Given the description of an element on the screen output the (x, y) to click on. 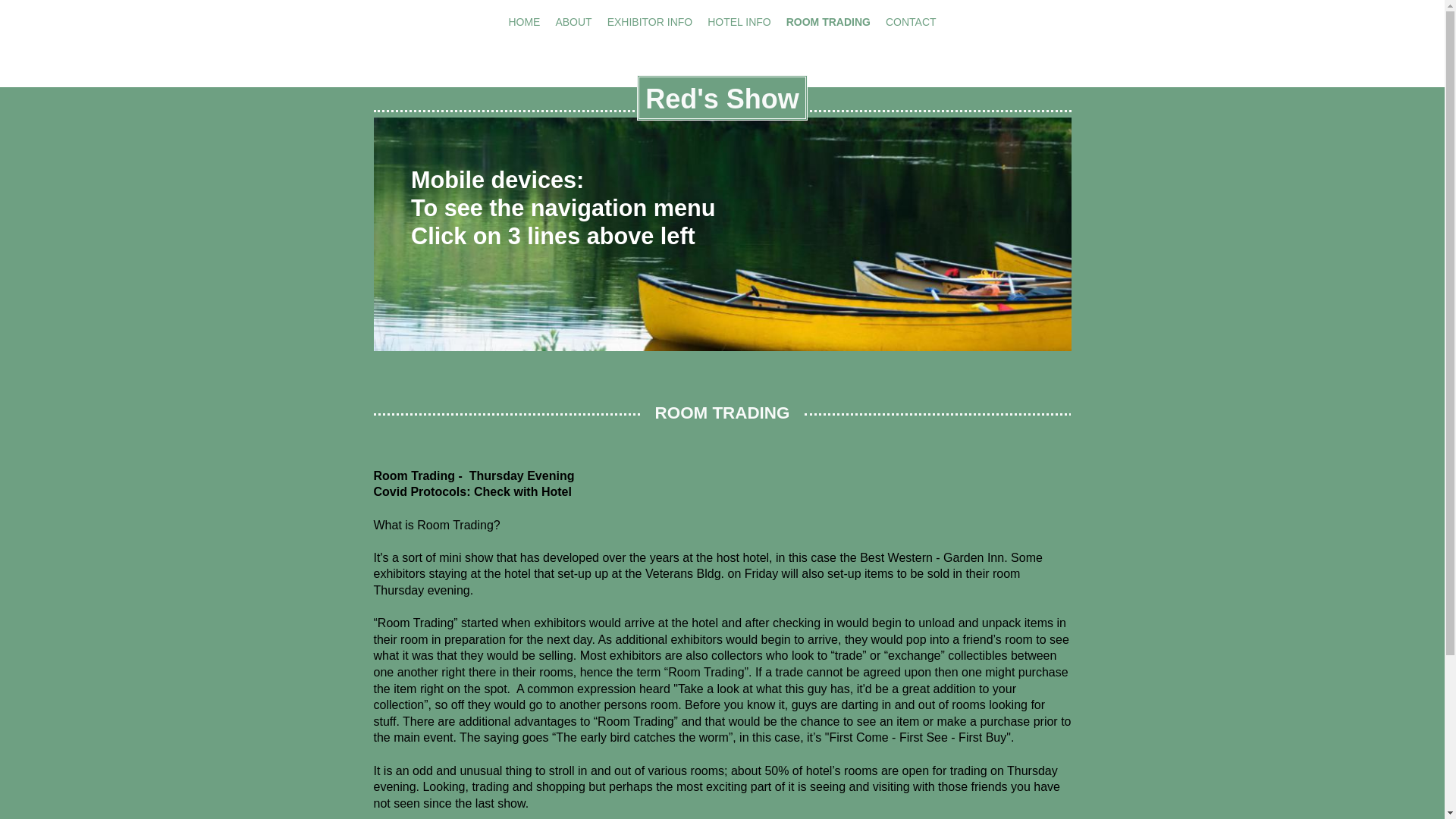
EXHIBITOR INFO (649, 22)
HOME (523, 22)
CONTACT (910, 22)
ABOUT (572, 22)
Red's Show (722, 97)
ROOM TRADING (827, 22)
HOTEL INFO (739, 22)
